Given the description of an element on the screen output the (x, y) to click on. 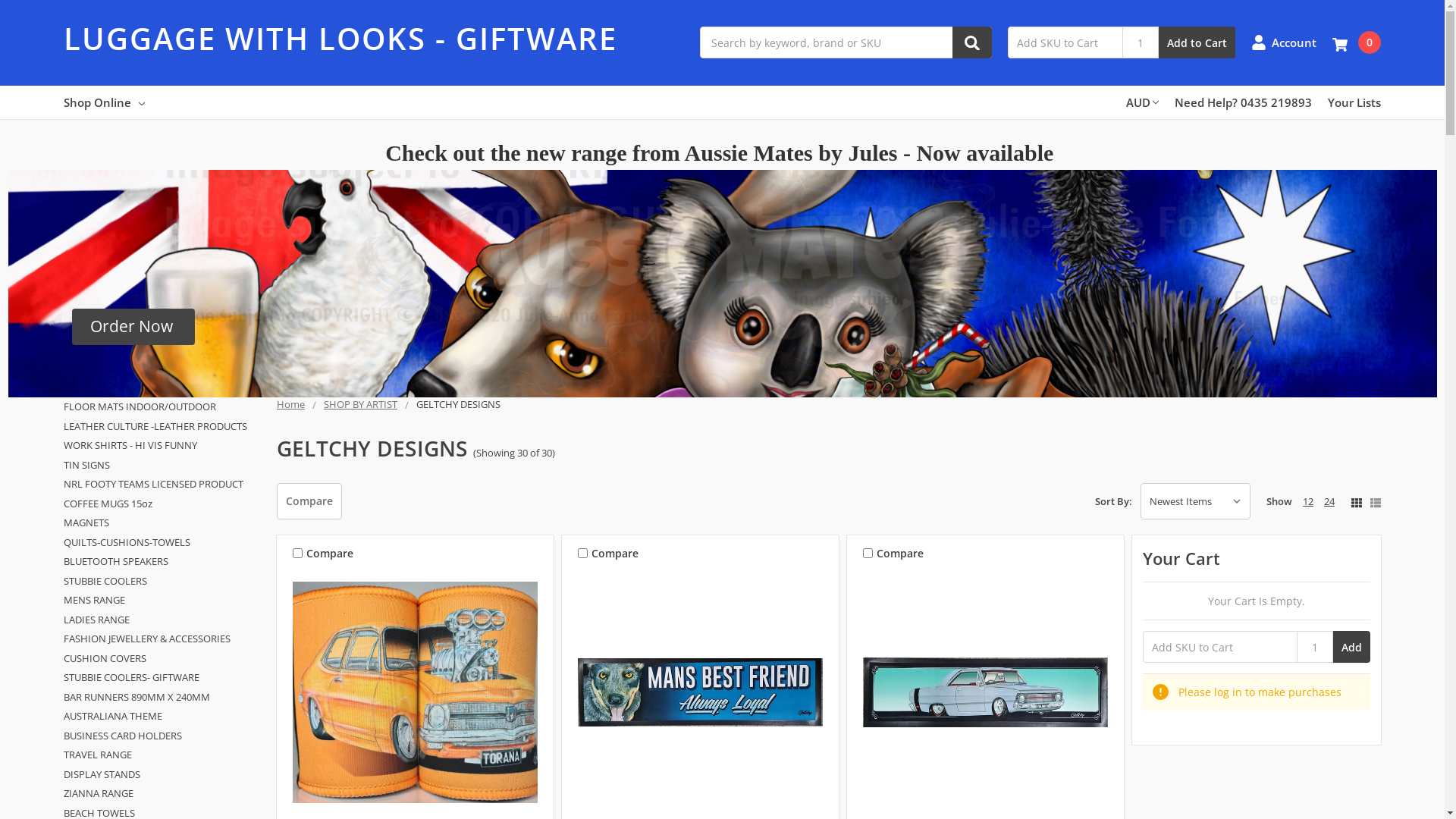
BLUETOOTH SPEAKERS Element type: text (161, 561)
CUSHION COVERS Element type: text (161, 658)
Account Element type: text (1283, 42)
Shop Online Element type: text (103, 102)
MAGNETS Element type: text (161, 523)
AUSTRALIANA THEME Element type: text (161, 716)
COFFEE MUGS 15oz Element type: text (161, 504)
LUGGAGE WITH LOOKS - GIFTWARE Element type: text (373, 83)
NRL FOOTY TEAMS LICENSED PRODUCT Element type: text (161, 484)
WORK SHIRTS - HI VIS FUNNY Element type: text (161, 445)
AUD Element type: text (1142, 102)
Home Element type: text (290, 404)
LADIES RANGE Element type: text (161, 620)
Add Element type: text (1351, 646)
STUBBIE COOLERS- GIFTWARE Element type: text (161, 677)
12 Element type: text (1307, 501)
QUILTS-CUSHIONS-TOWELS Element type: text (161, 542)
DISPLAY STANDS Element type: text (161, 774)
STUBBIE COOLERS Element type: text (161, 581)
BUSINESS CARD HOLDERS Element type: text (161, 736)
ZIANNA RANGE Element type: text (161, 793)
TIN SIGNS Element type: text (161, 465)
FLOOR MATS INDOOR/OUTDOOR Element type: text (161, 407)
VALIANT OLD SCHOOL BAR RUNNER 890MM X 240MM Element type: hover (984, 691)
MENS RANGE Element type: text (161, 600)
Need Help? 0435 219893 Element type: text (1242, 102)
TRAVEL RANGE Element type: text (161, 755)
HOLDEN XU1 TORANA ORANGE STUBBY COOLER  Element type: hover (414, 692)
FASHION JEWELLERY & ACCESSORIES Element type: text (161, 639)
BAR RUNNERS 890MM X 240MM Element type: text (161, 697)
MANS BEST FRIEND BAR RUNNER 890MM X 240MM Element type: hover (699, 692)
24 Element type: text (1329, 501)
Compare Element type: text (309, 501)
Your Lists Element type: text (1353, 102)
Add to Cart Element type: text (1196, 42)
LEATHER CULTURE -LEATHER PRODUCTS Element type: text (161, 426)
SHOP BY ARTIST Element type: text (360, 404)
0 Element type: text (1356, 42)
